Given the description of an element on the screen output the (x, y) to click on. 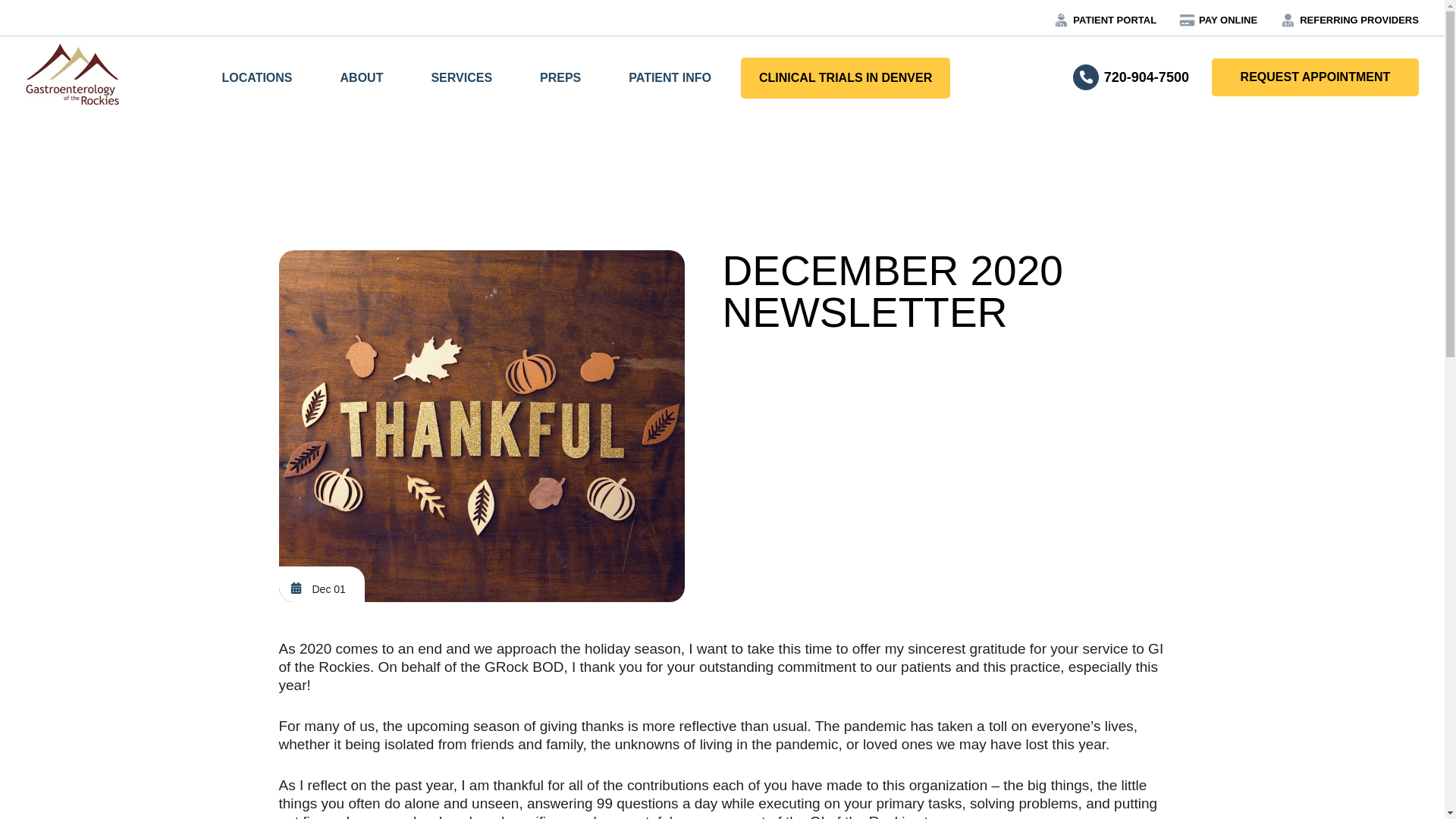
LOCATIONS (256, 77)
PATIENT PORTAL (1114, 19)
SERVICES (461, 77)
PREPS (559, 77)
REFERRING PROVIDERS (1359, 19)
PAY ONLINE (1227, 19)
ABOUT (361, 77)
